Given the description of an element on the screen output the (x, y) to click on. 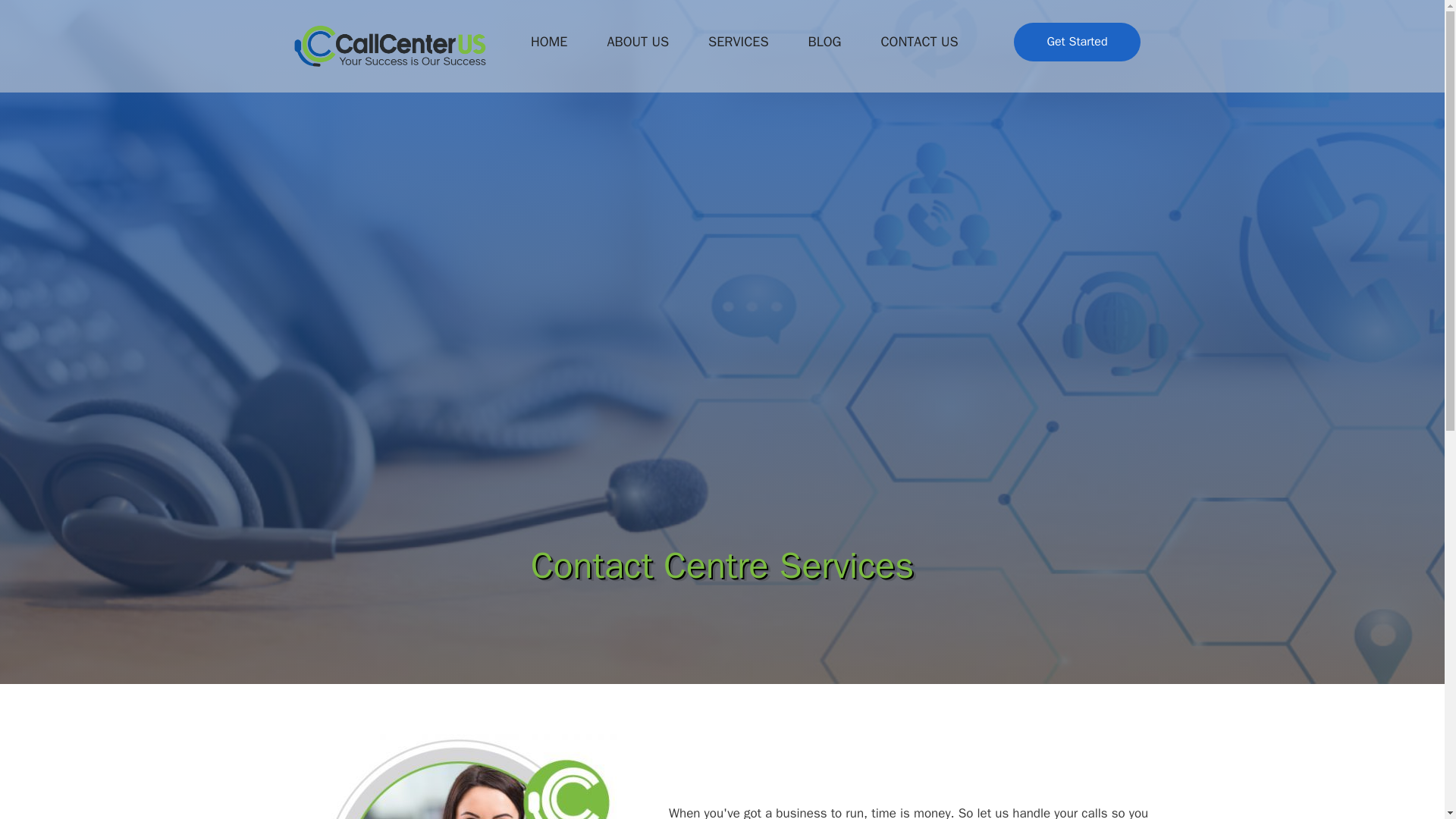
ABOUT US (637, 41)
Get Started (1076, 41)
BLOG (825, 41)
SERVICES (737, 41)
HOME (549, 41)
CONTACT US (918, 41)
Contact Centre Services (464, 773)
Call Center US (389, 45)
